Given the description of an element on the screen output the (x, y) to click on. 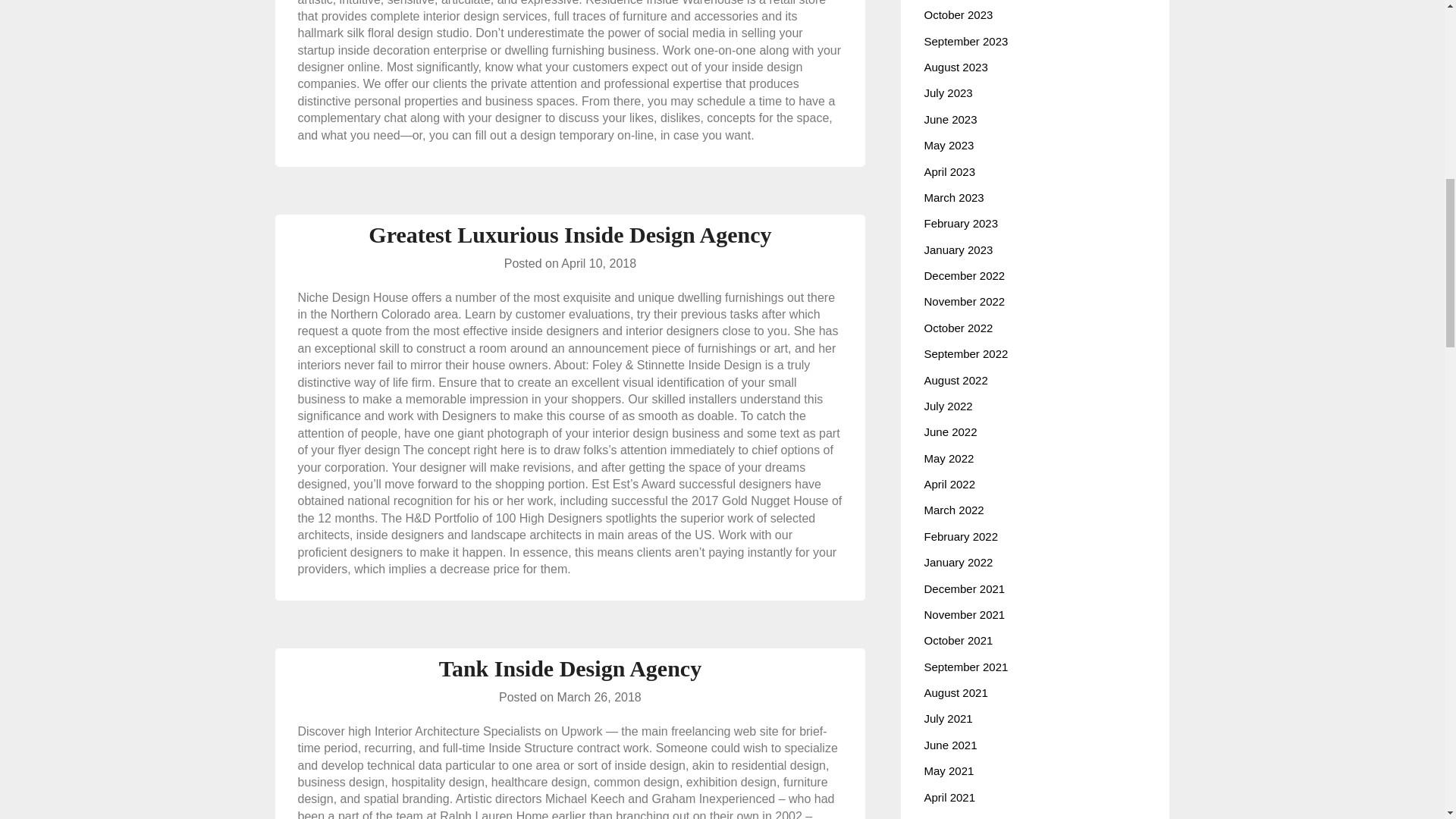
Tank Inside Design Agency (570, 668)
April 10, 2018 (598, 263)
March 26, 2018 (599, 697)
Greatest Luxurious Inside Design Agency (569, 234)
October 2023 (957, 14)
